Given the description of an element on the screen output the (x, y) to click on. 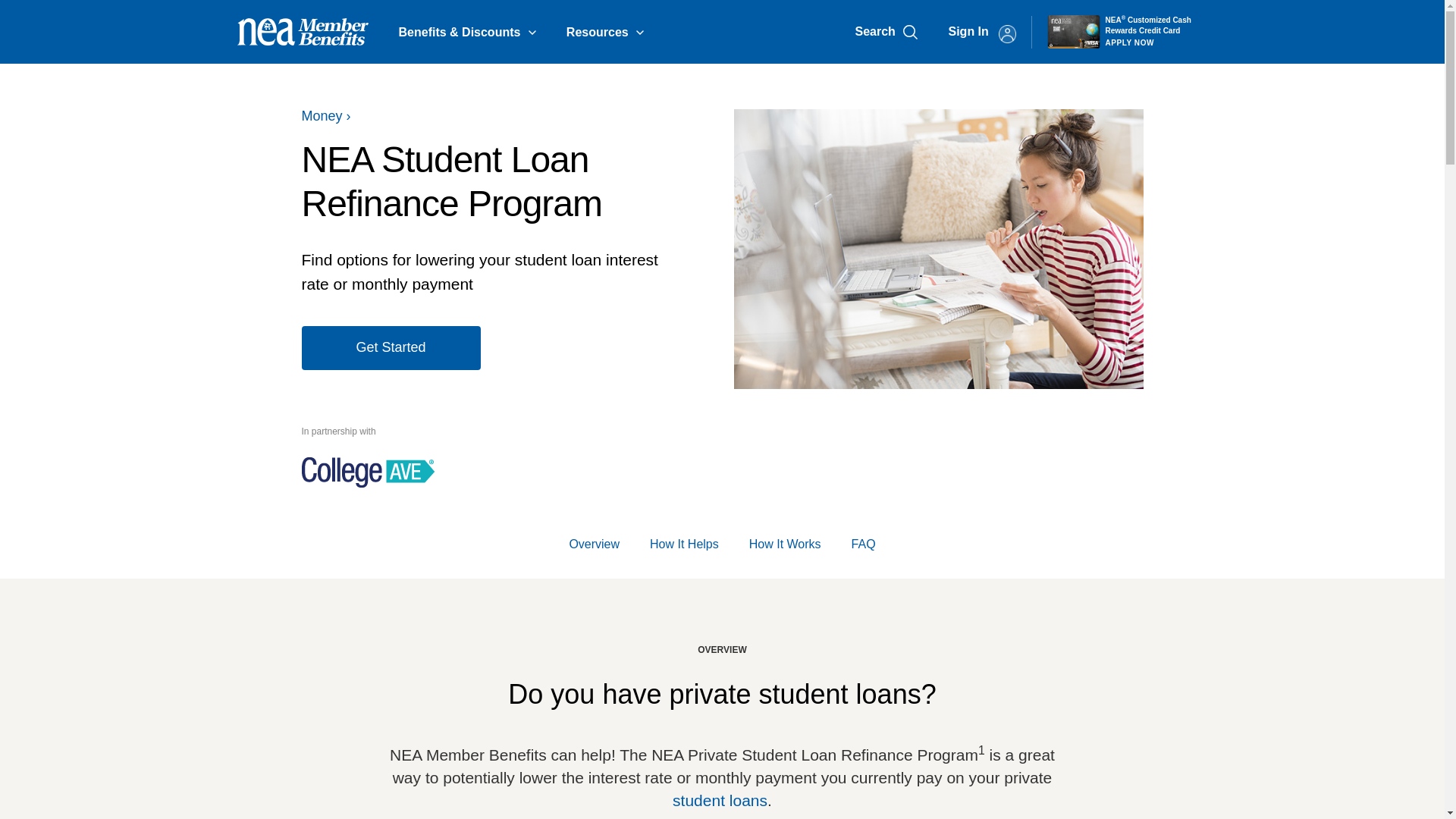
How It Helps (684, 543)
Overview (594, 543)
FAQ (863, 543)
How It Works (785, 543)
